Given the description of an element on the screen output the (x, y) to click on. 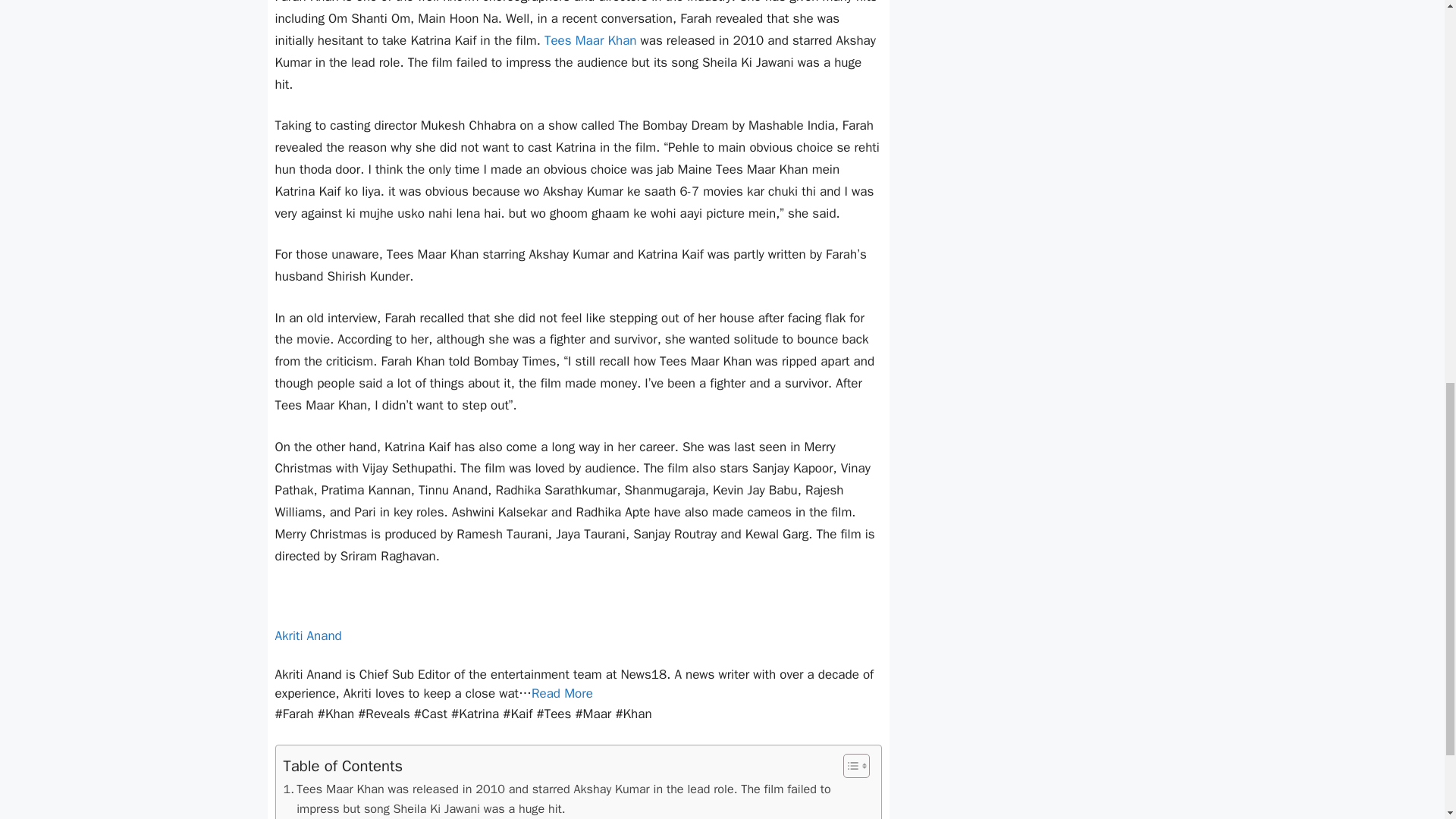
Tees Maar Khan (590, 40)
Akriti Anand (307, 635)
Read More (561, 693)
